Given the description of an element on the screen output the (x, y) to click on. 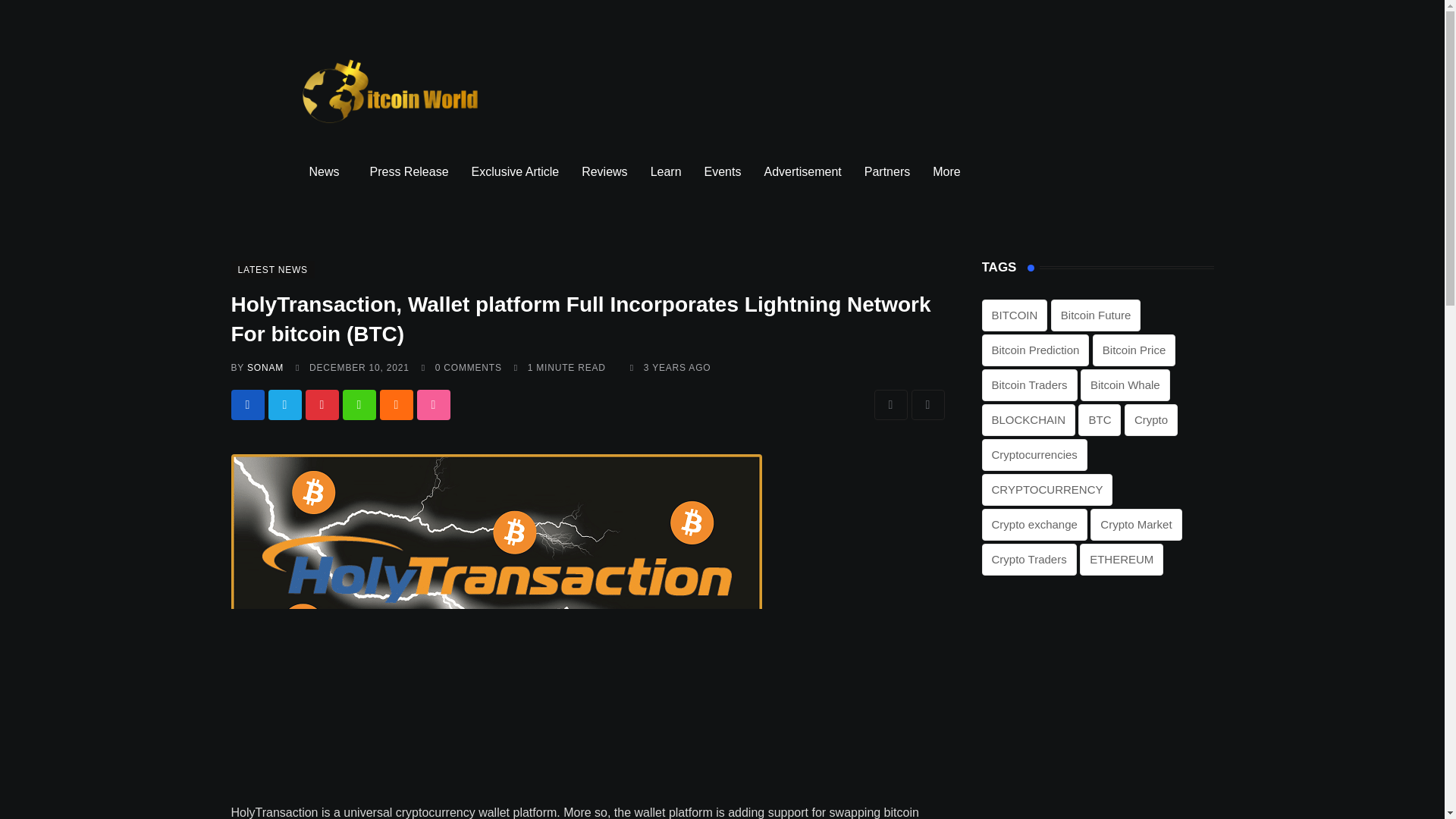
SONAM (265, 367)
Press Release (409, 171)
Learn (666, 171)
Events (722, 171)
Exclusive Article (515, 171)
Posts by sonam (265, 367)
Advertisement (801, 171)
News (327, 171)
Reviews (604, 171)
More (949, 171)
